Given the description of an element on the screen output the (x, y) to click on. 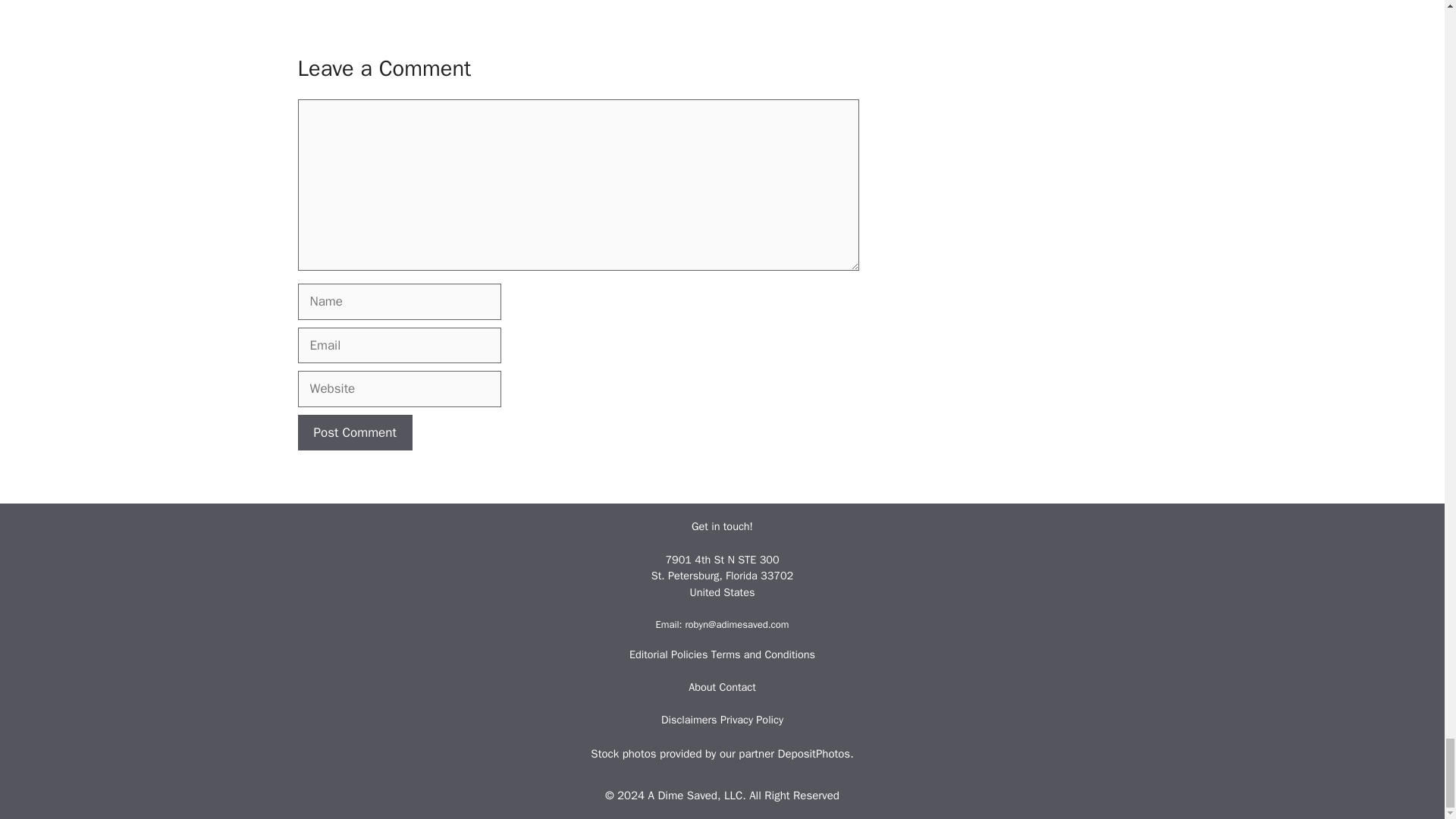
Post Comment (354, 432)
Editorial Policies (669, 653)
Post Comment (354, 432)
DepositPhotos. (815, 753)
Terms and Conditions (763, 653)
Privacy Policy (751, 719)
Disclaimers (690, 719)
About (702, 686)
Contact (737, 686)
